Given the description of an element on the screen output the (x, y) to click on. 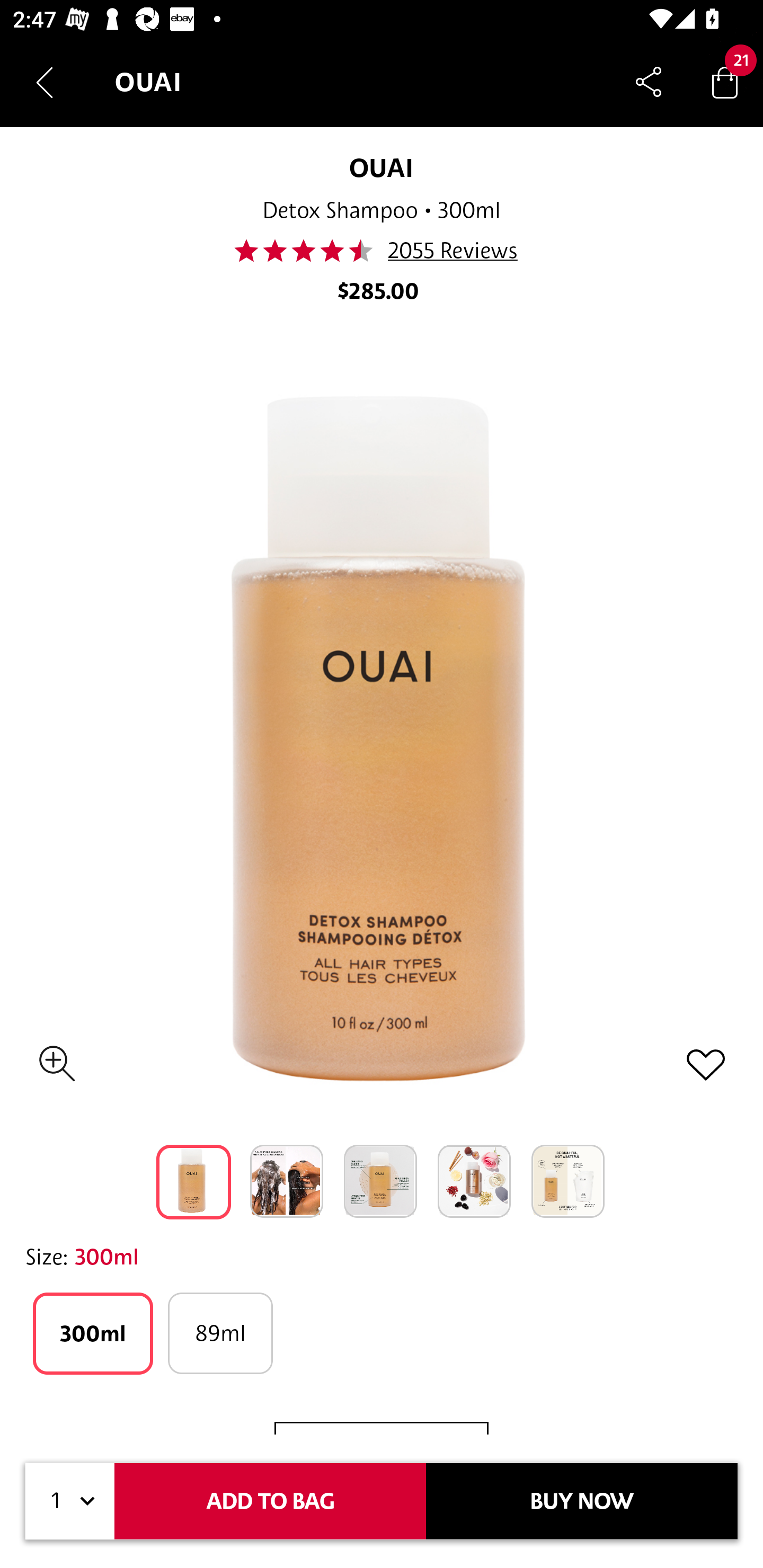
Navigate up (44, 82)
Share (648, 81)
Bag (724, 81)
OUAI (381, 167)
45.0 2055 Reviews (380, 250)
300ml (92, 1333)
89ml (220, 1332)
1 (69, 1500)
ADD TO BAG (269, 1500)
BUY NOW (581, 1500)
